Given the description of an element on the screen output the (x, y) to click on. 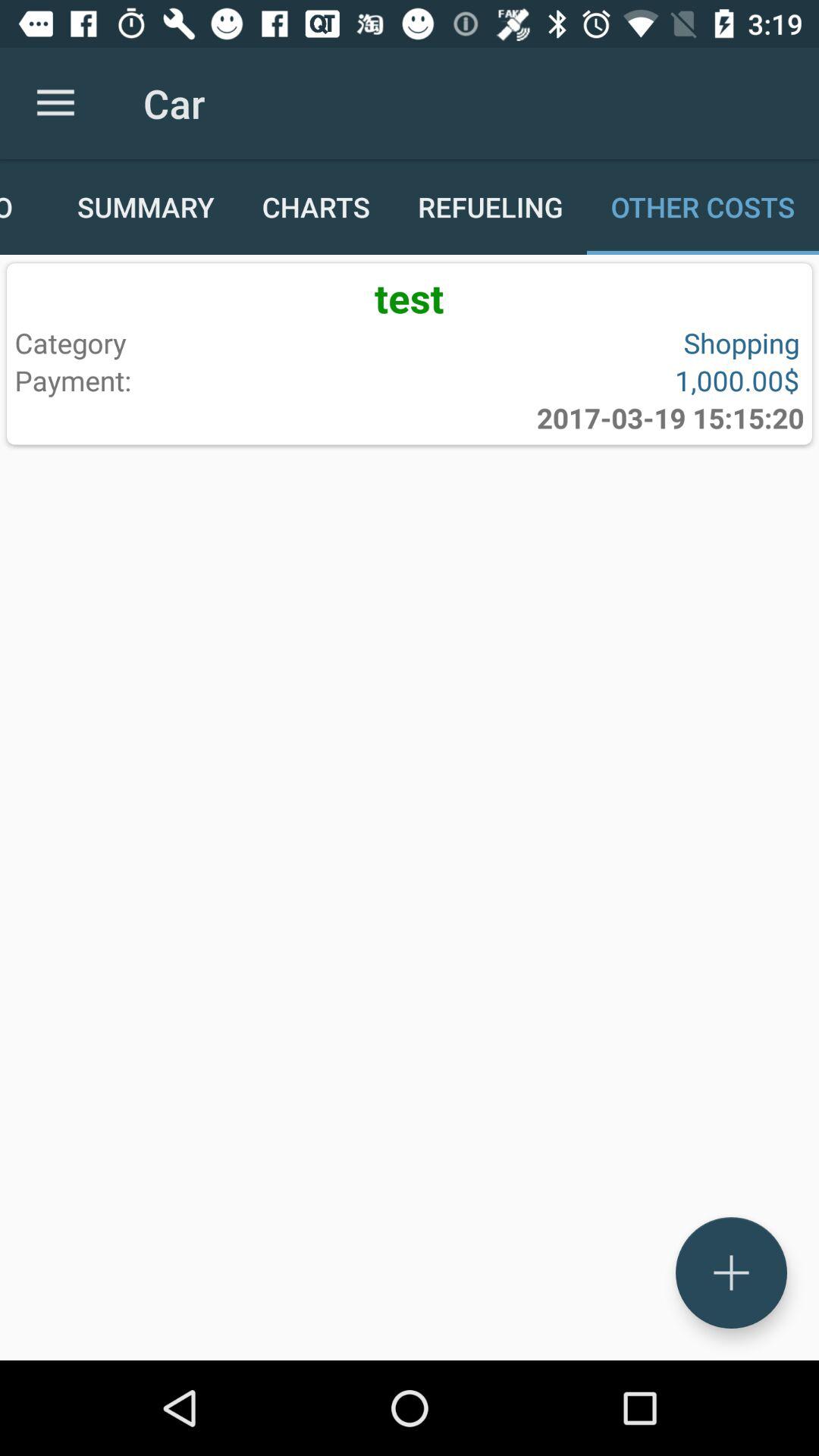
open the item below info (409, 297)
